Given the description of an element on the screen output the (x, y) to click on. 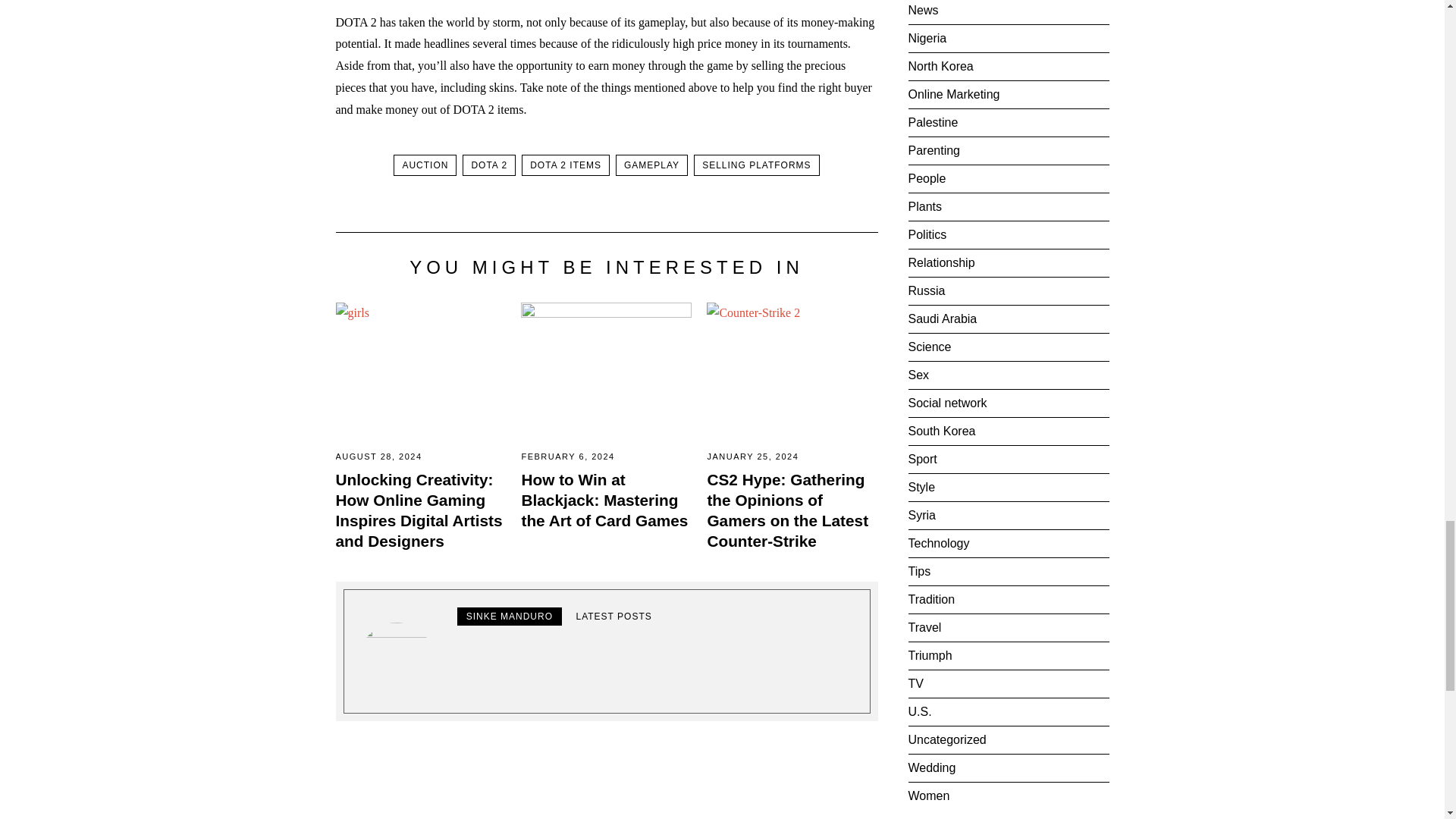
SINKE MANDURO (509, 616)
How to Win at Blackjack: Mastering the Art of Card Games (604, 499)
AUCTION (425, 165)
DOTA 2 (489, 165)
GAMEPLAY (651, 165)
DOTA 2 ITEMS (565, 165)
LATEST POSTS (613, 616)
SELLING PLATFORMS (756, 165)
